Given the description of an element on the screen output the (x, y) to click on. 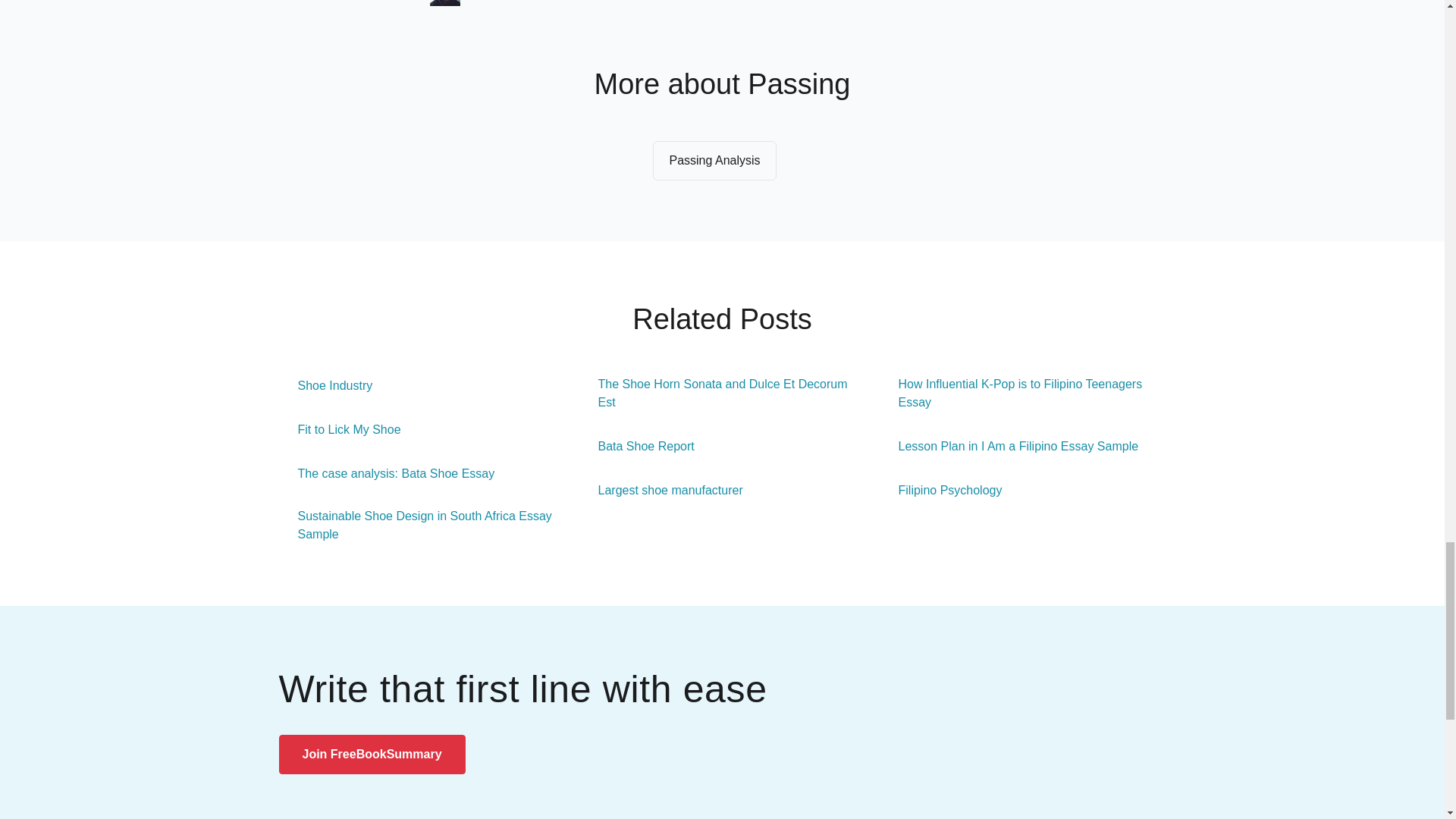
How Influential K-Pop is to Filipino Teenagers Essay (1022, 393)
The case analysis: Bata Shoe Essay (387, 474)
Filipino Psychology (941, 490)
The Shoe Horn Sonata and Dulce Et Decorum Est (722, 393)
Bata Shoe Report (636, 446)
Largest shoe manufacturer (660, 490)
Passing Analysis (714, 160)
Shoe Industry (325, 385)
Sustainable Shoe Design in South Africa Essay Sample (422, 524)
Lesson Plan in I Am a Filipino Essay Sample (1008, 446)
